Given the description of an element on the screen output the (x, y) to click on. 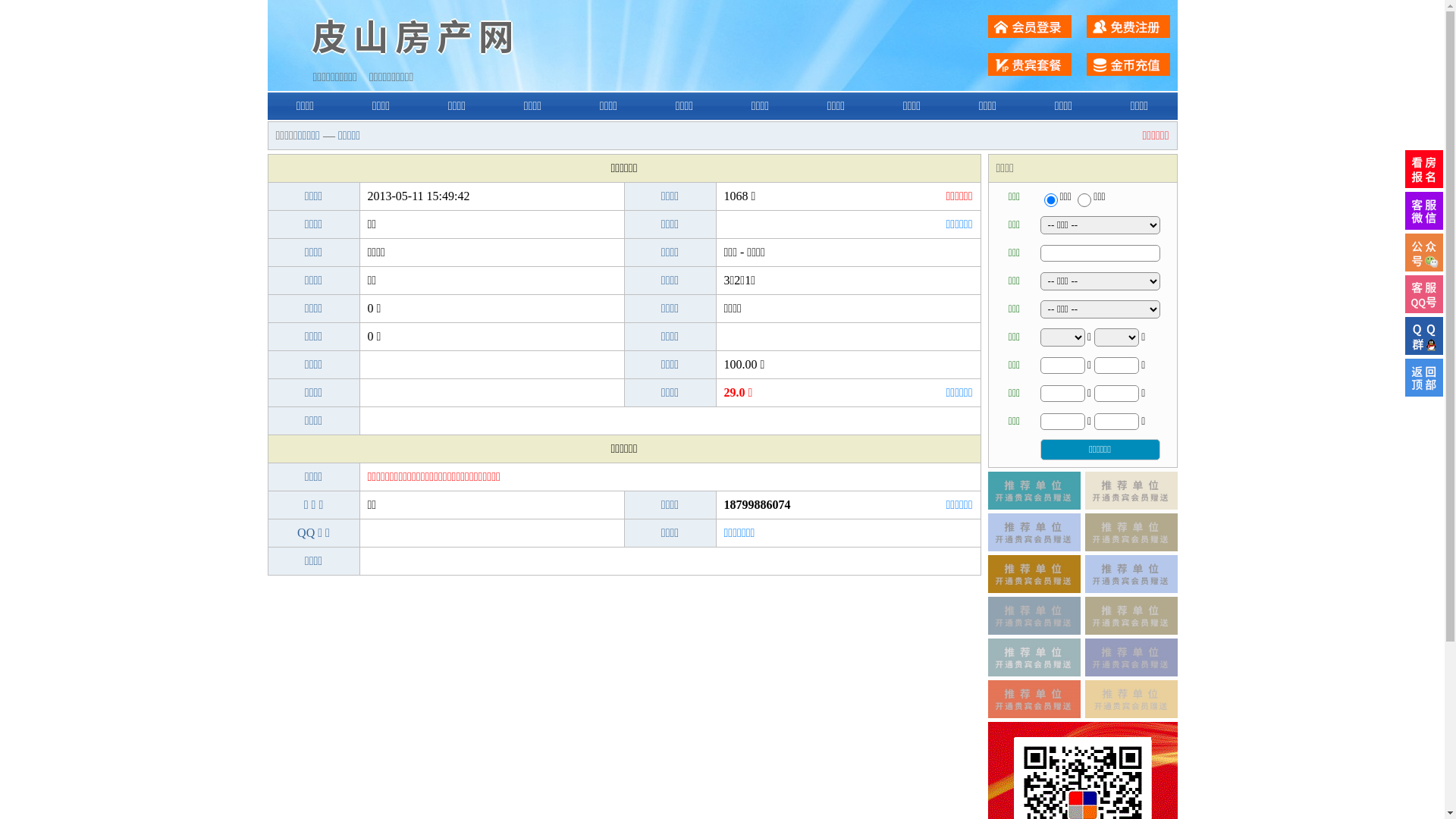
chuzu Element type: text (1084, 200)
ershou Element type: text (1050, 200)
